Given the description of an element on the screen output the (x, y) to click on. 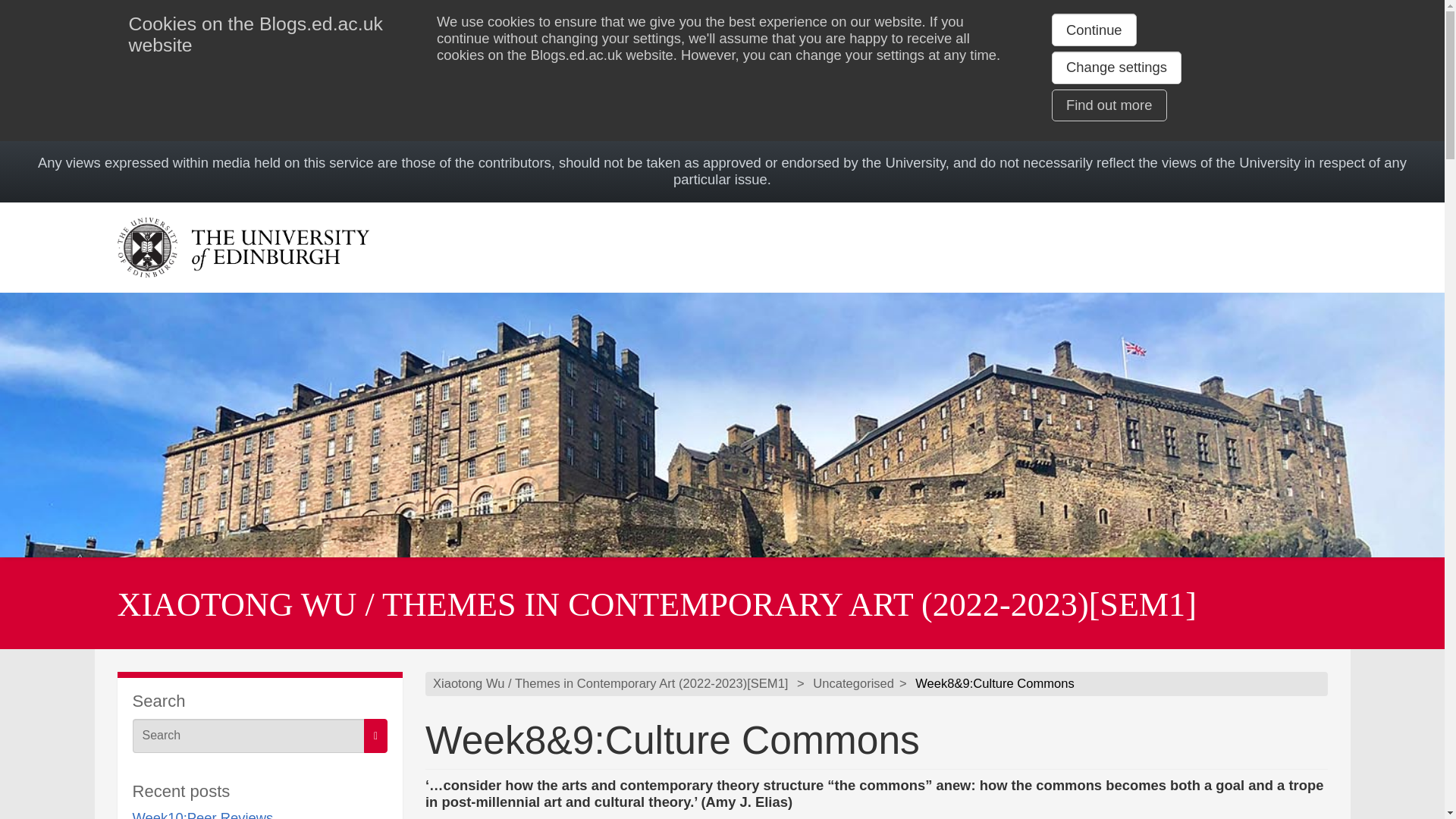
Continue (1094, 29)
Uncategorised (852, 683)
Find out more (1109, 105)
Go to this blog's homepage. (609, 683)
Change settings (1116, 67)
Week10:Peer Reviews (202, 814)
